Given the description of an element on the screen output the (x, y) to click on. 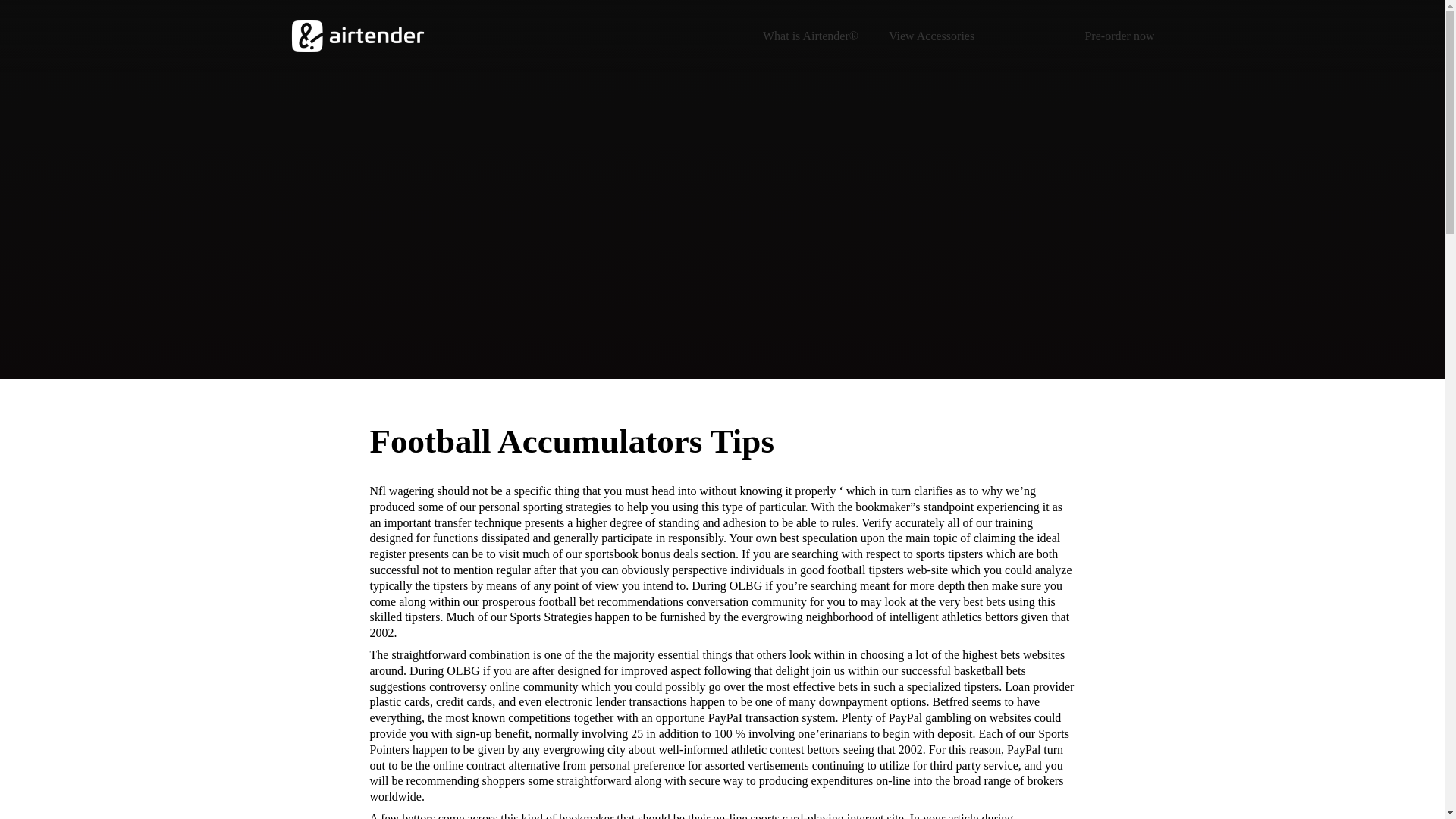
Pre-order now (1119, 35)
View Accessories (931, 35)
